Given the description of an element on the screen output the (x, y) to click on. 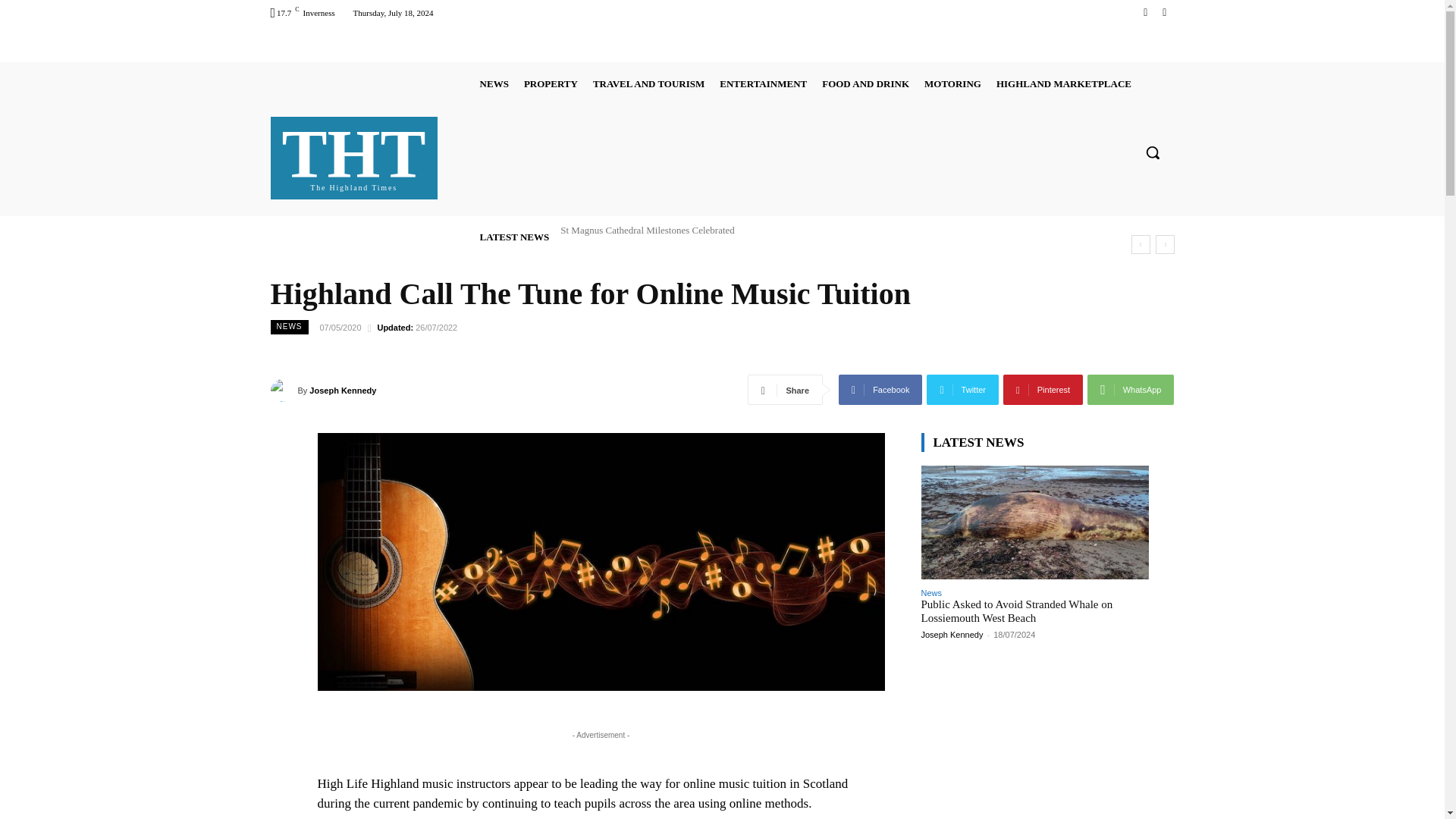
MOTORING (952, 83)
St Magnus Cathedral Milestones Celebrated (647, 229)
TRAVEL AND TOURISM (648, 83)
NEWS (494, 83)
Facebook (1144, 12)
ENTERTAINMENT (762, 83)
FOOD AND DRINK (865, 83)
Twitter (354, 155)
PROPERTY (1163, 12)
HIGHLAND MARKETPLACE (550, 83)
